Given the description of an element on the screen output the (x, y) to click on. 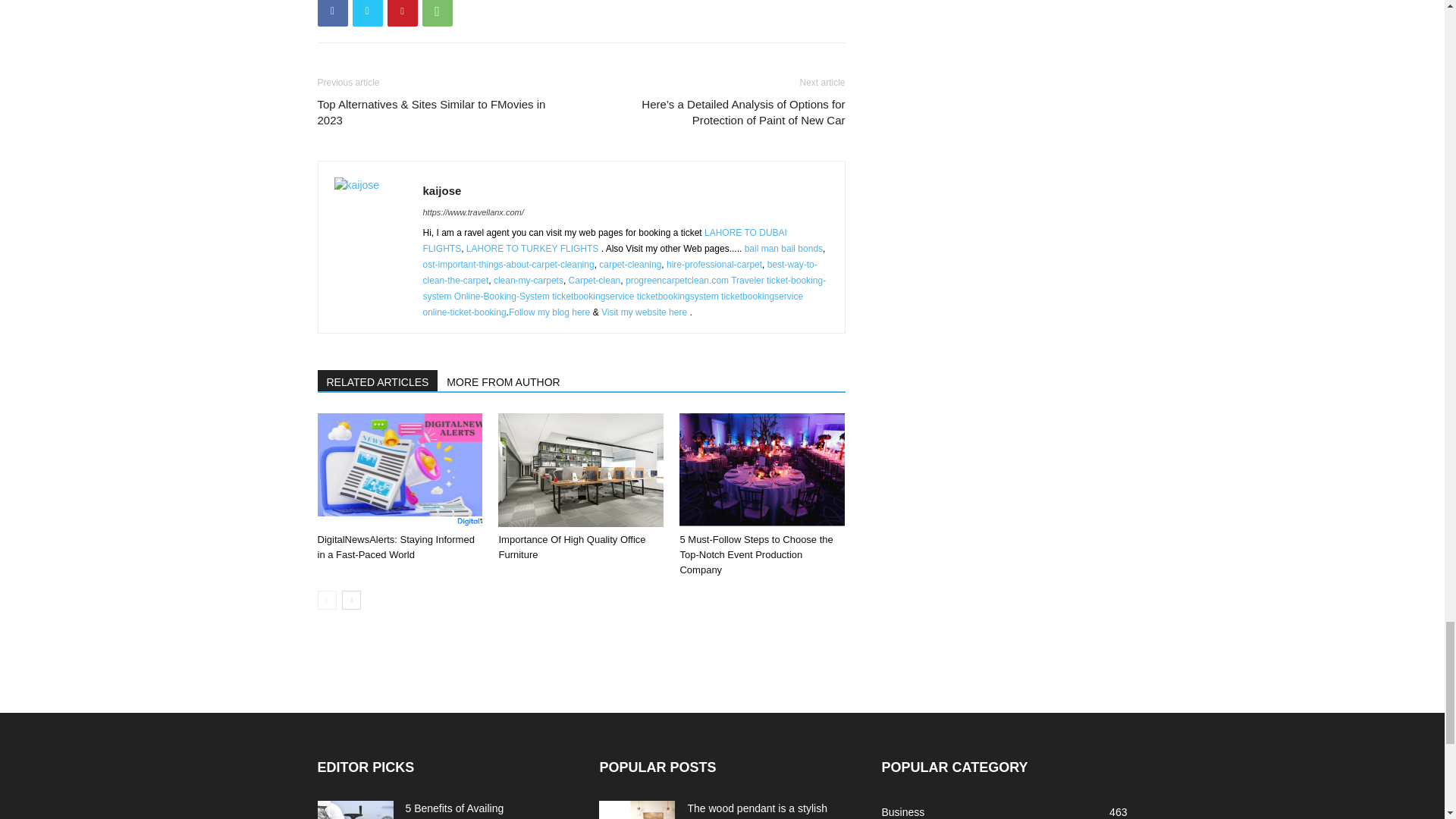
Twitter (366, 13)
DigitalNewsAlerts: Staying Informed in a Fast-Paced World (395, 546)
WhatsApp (436, 13)
DigitalNewsAlerts: Staying Informed in a Fast-Paced World (399, 470)
Pinterest (401, 13)
Facebook (332, 13)
